Given the description of an element on the screen output the (x, y) to click on. 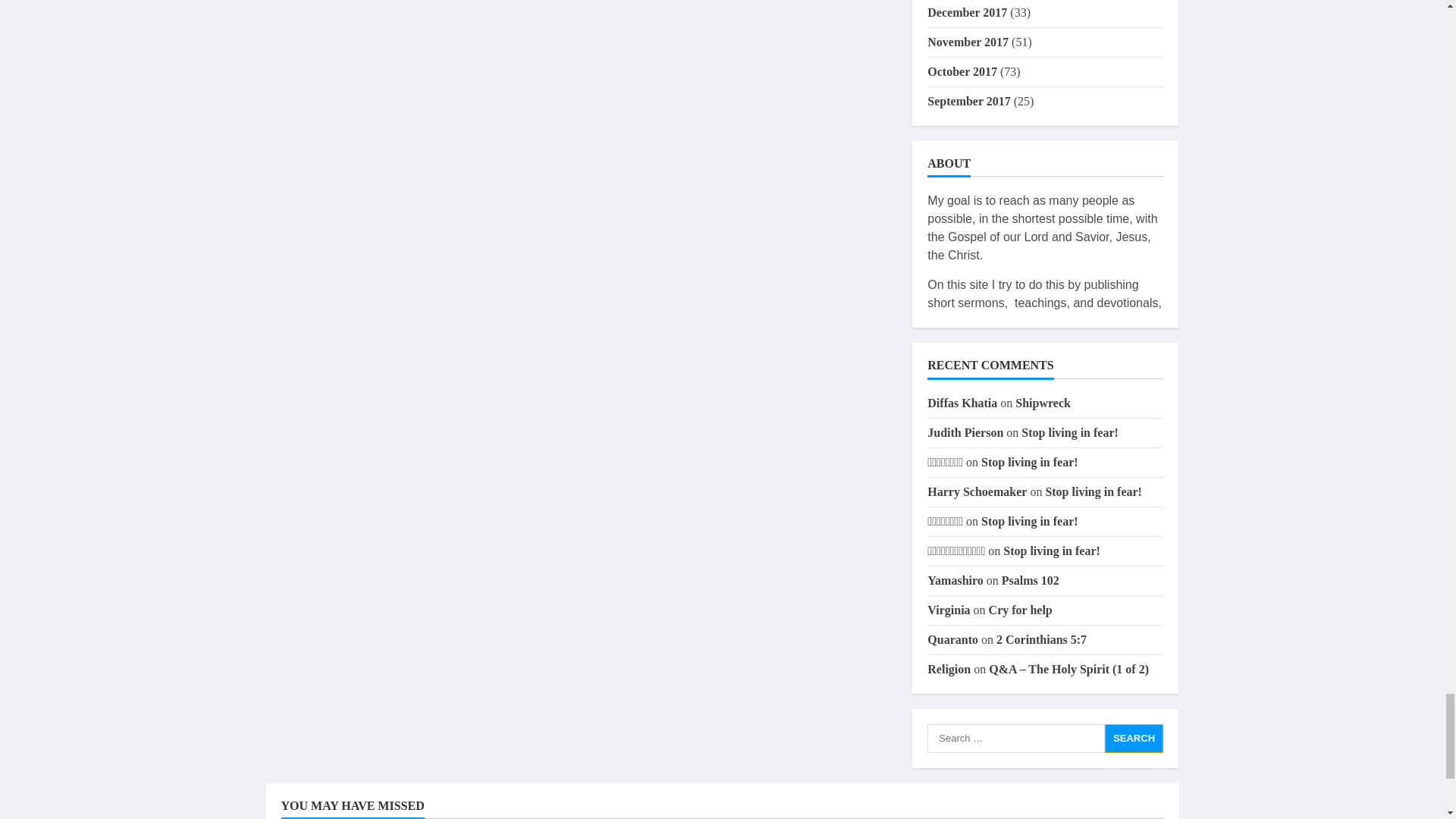
Search (1134, 737)
Search (1134, 737)
